Given the description of an element on the screen output the (x, y) to click on. 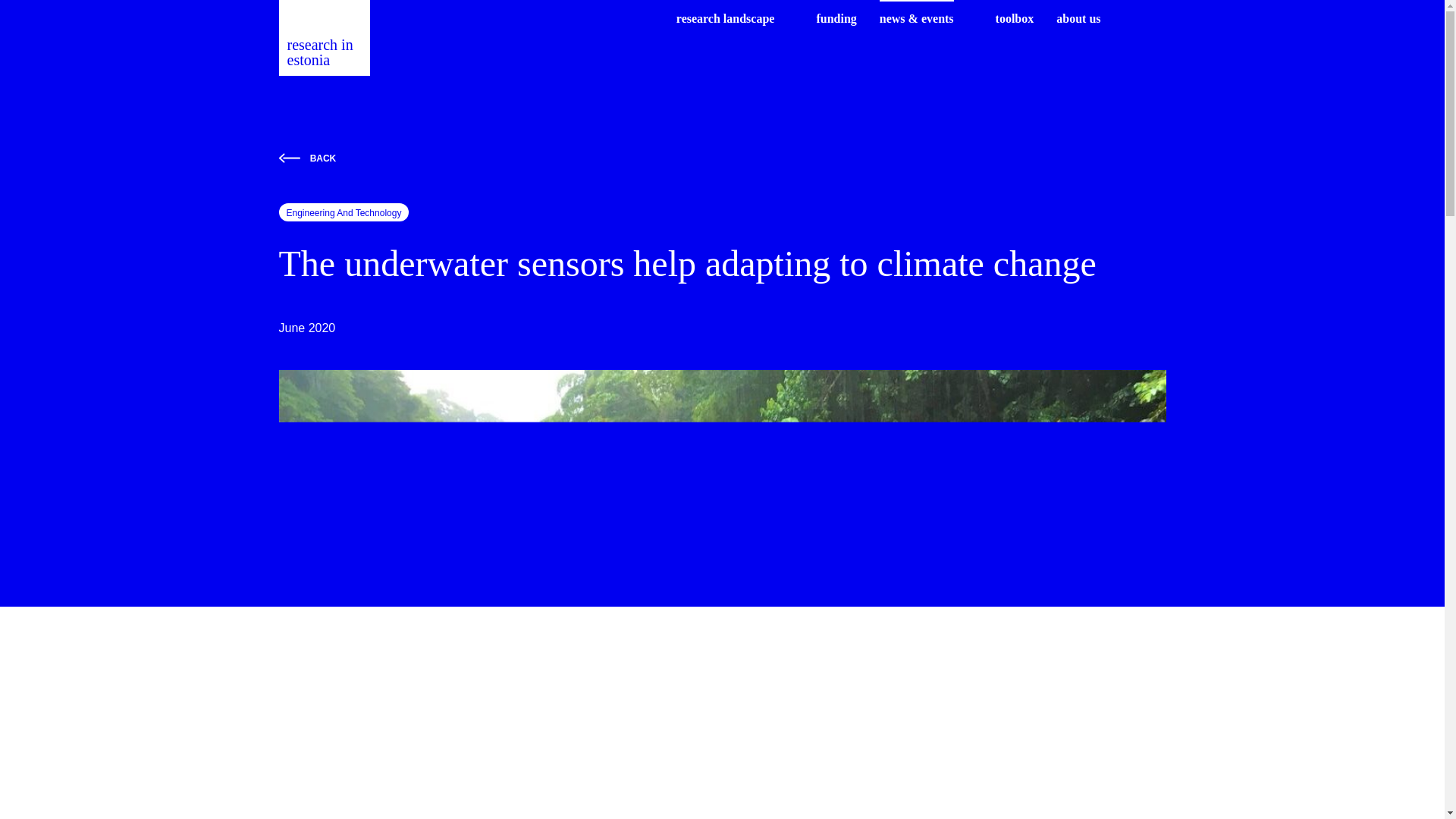
toolbox (1014, 18)
about us (1078, 18)
Engineering And Technology (344, 212)
research in estonia (324, 38)
funding (835, 18)
research landscape (725, 18)
BACK (722, 158)
